Given the description of an element on the screen output the (x, y) to click on. 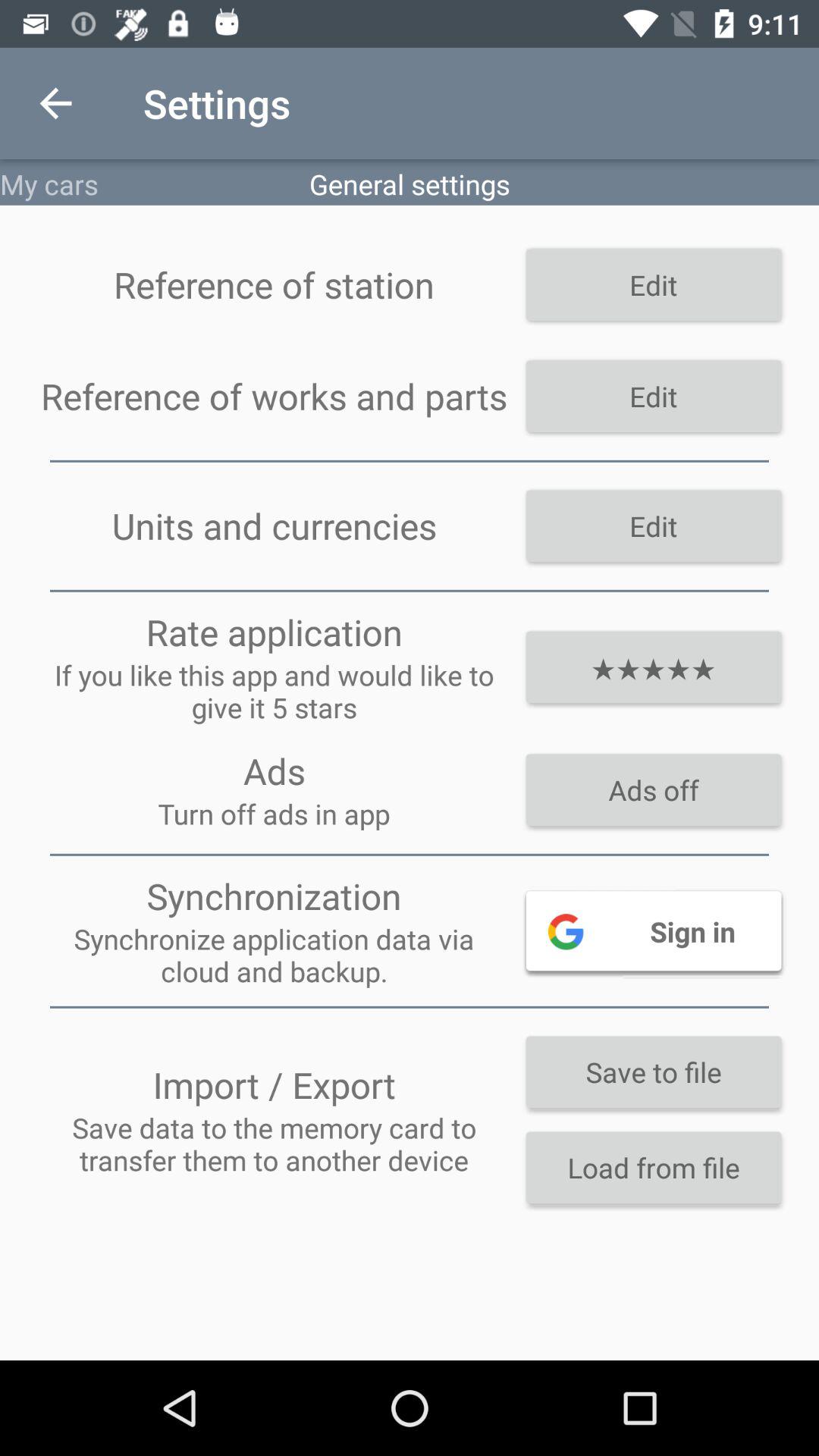
turn off the item to the right of the rate application icon (653, 666)
